Given the description of an element on the screen output the (x, y) to click on. 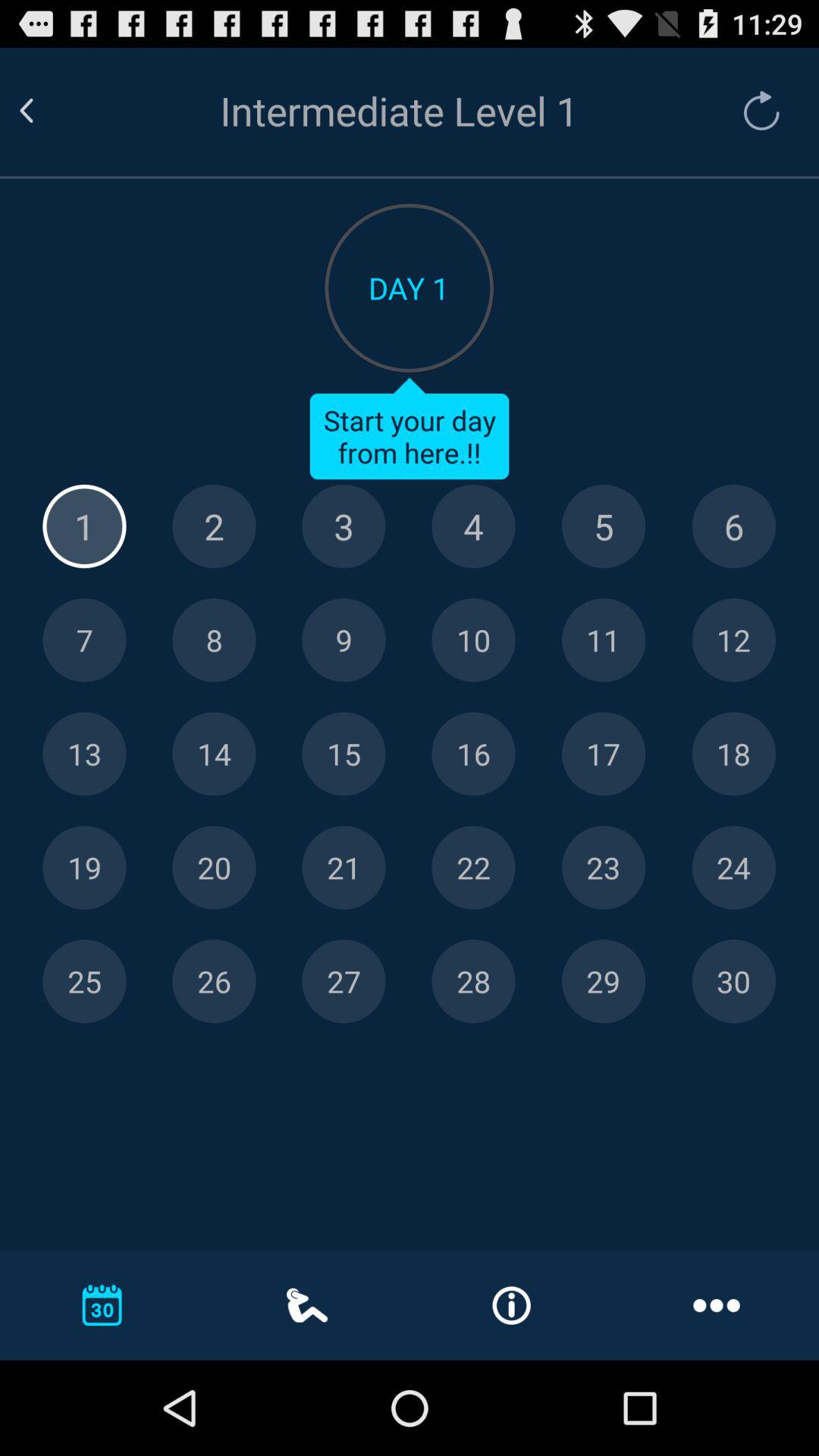
select the number (473, 753)
